Given the description of an element on the screen output the (x, y) to click on. 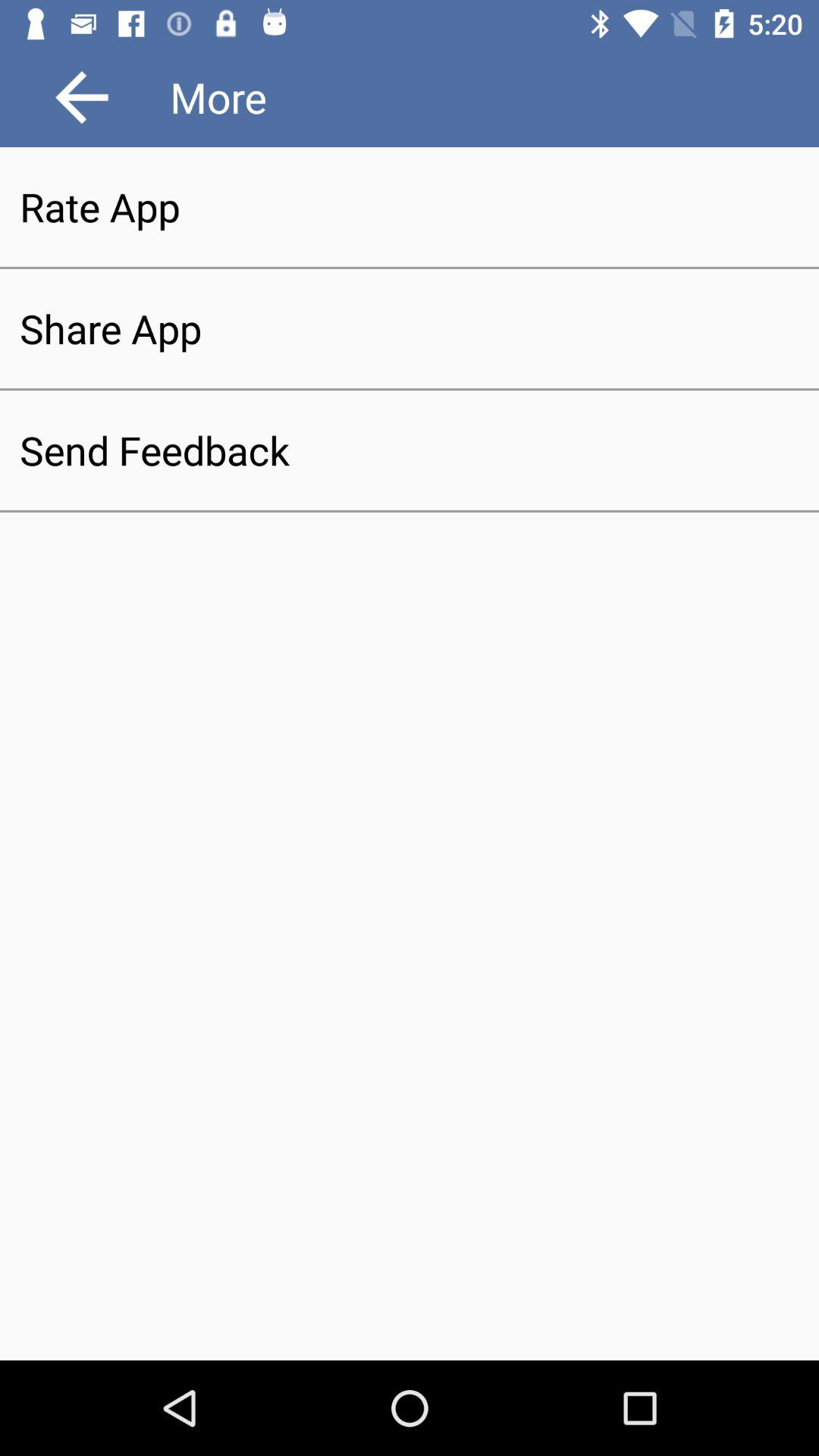
flip until the send feedback (409, 450)
